Given the description of an element on the screen output the (x, y) to click on. 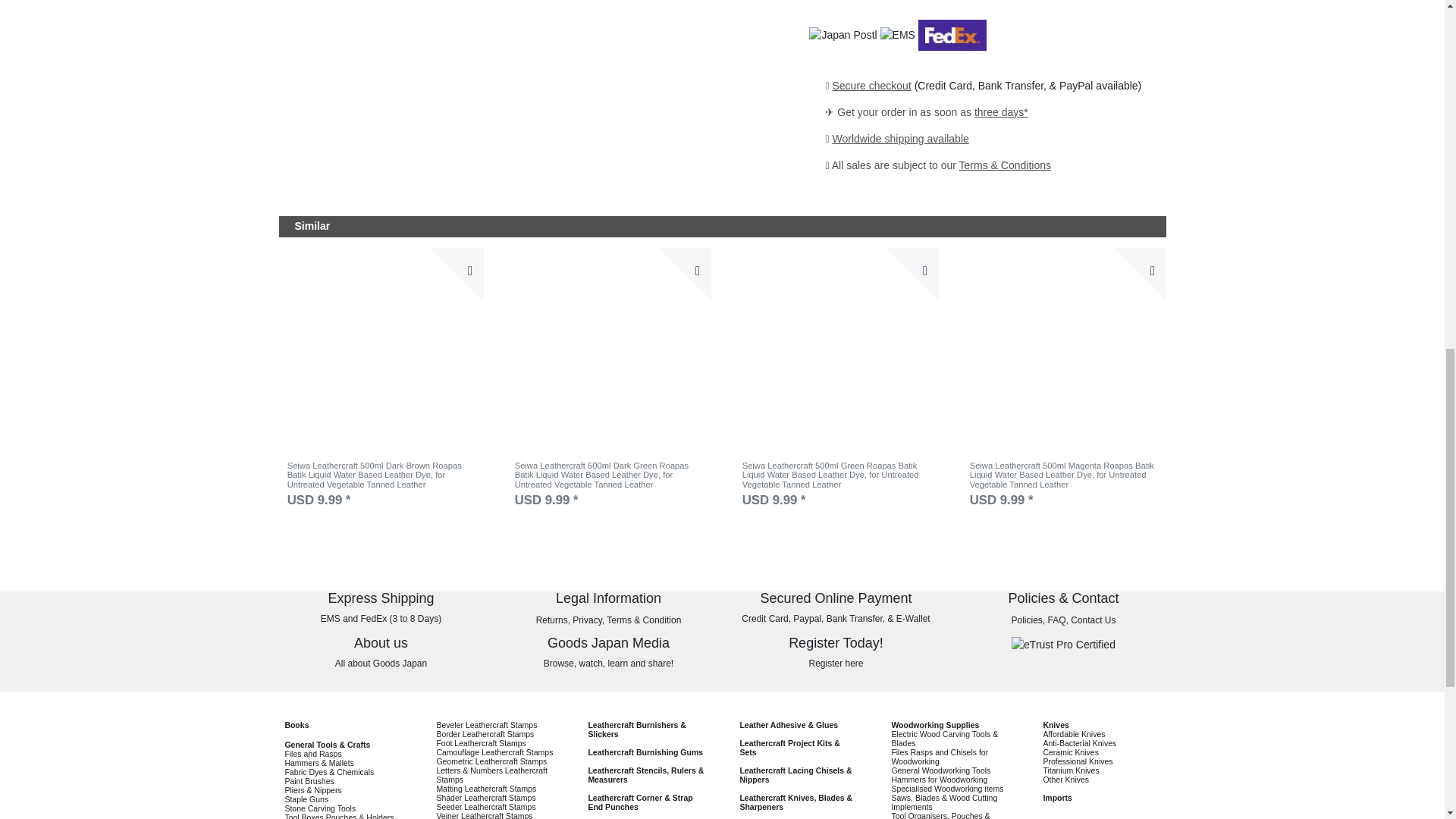
EMS (897, 38)
FedEx (952, 37)
Add to cart (684, 274)
Add to cart (912, 274)
Add to cart (456, 274)
Japan Post (842, 38)
Add to cart (1139, 274)
eTrust Pro Certified (1063, 644)
